Given the description of an element on the screen output the (x, y) to click on. 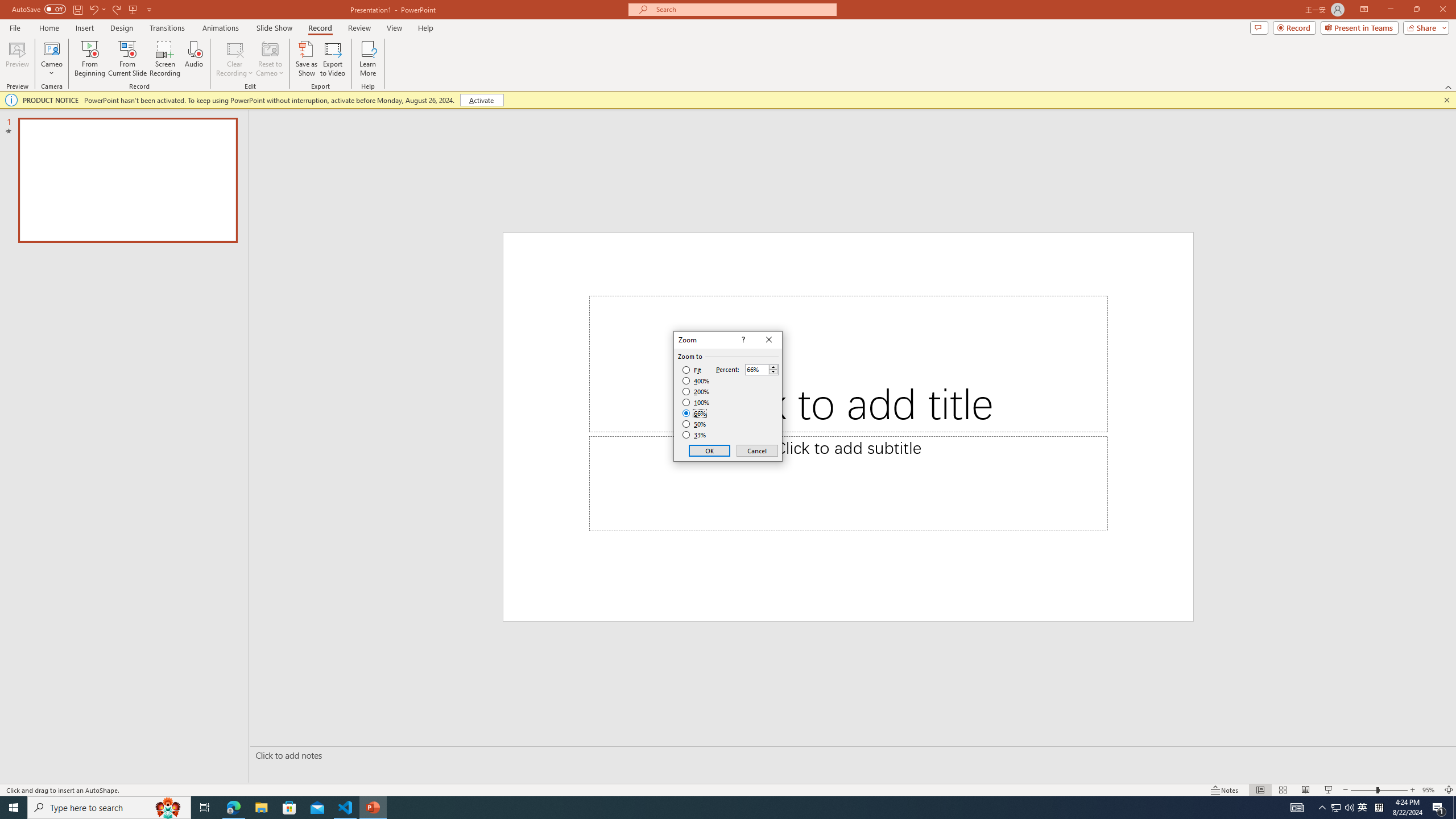
Screen Recording (165, 58)
100% (696, 402)
